Given the description of an element on the screen output the (x, y) to click on. 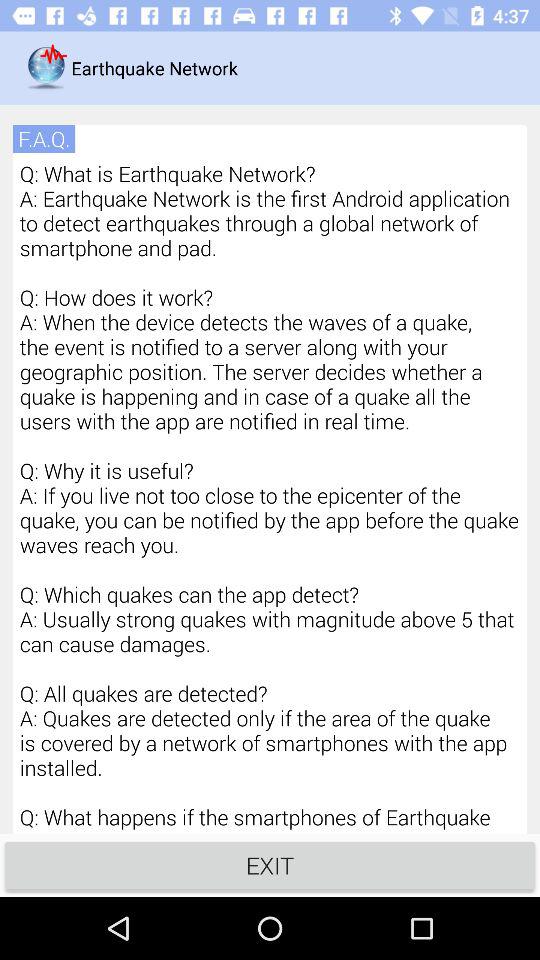
select q what is (269, 496)
